Given the description of an element on the screen output the (x, y) to click on. 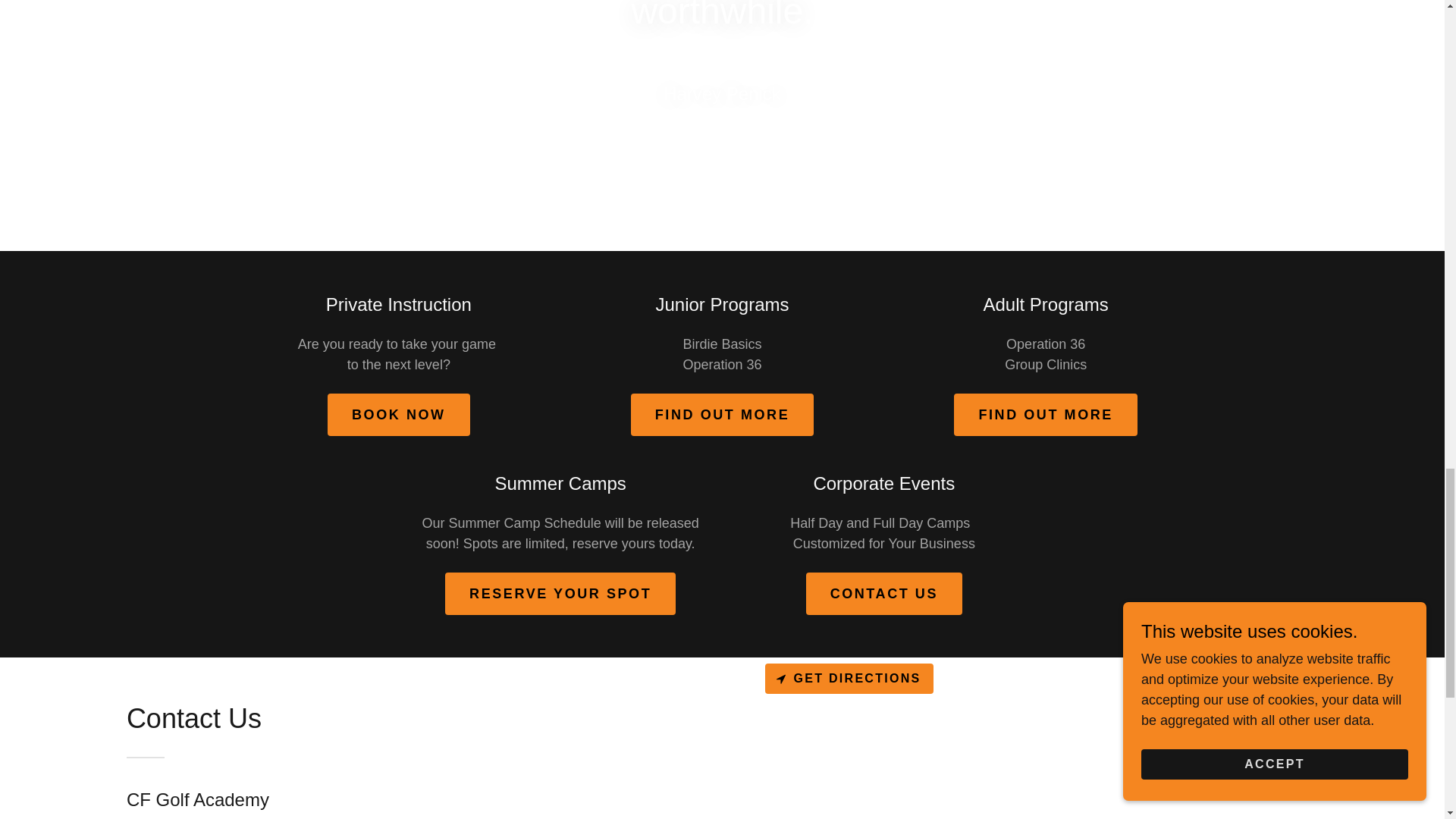
BOOK NOW (398, 414)
FIND OUT MORE (1045, 414)
FIND OUT MORE (721, 414)
CONTACT US (884, 593)
RESERVE YOUR SPOT (560, 593)
